Given the description of an element on the screen output the (x, y) to click on. 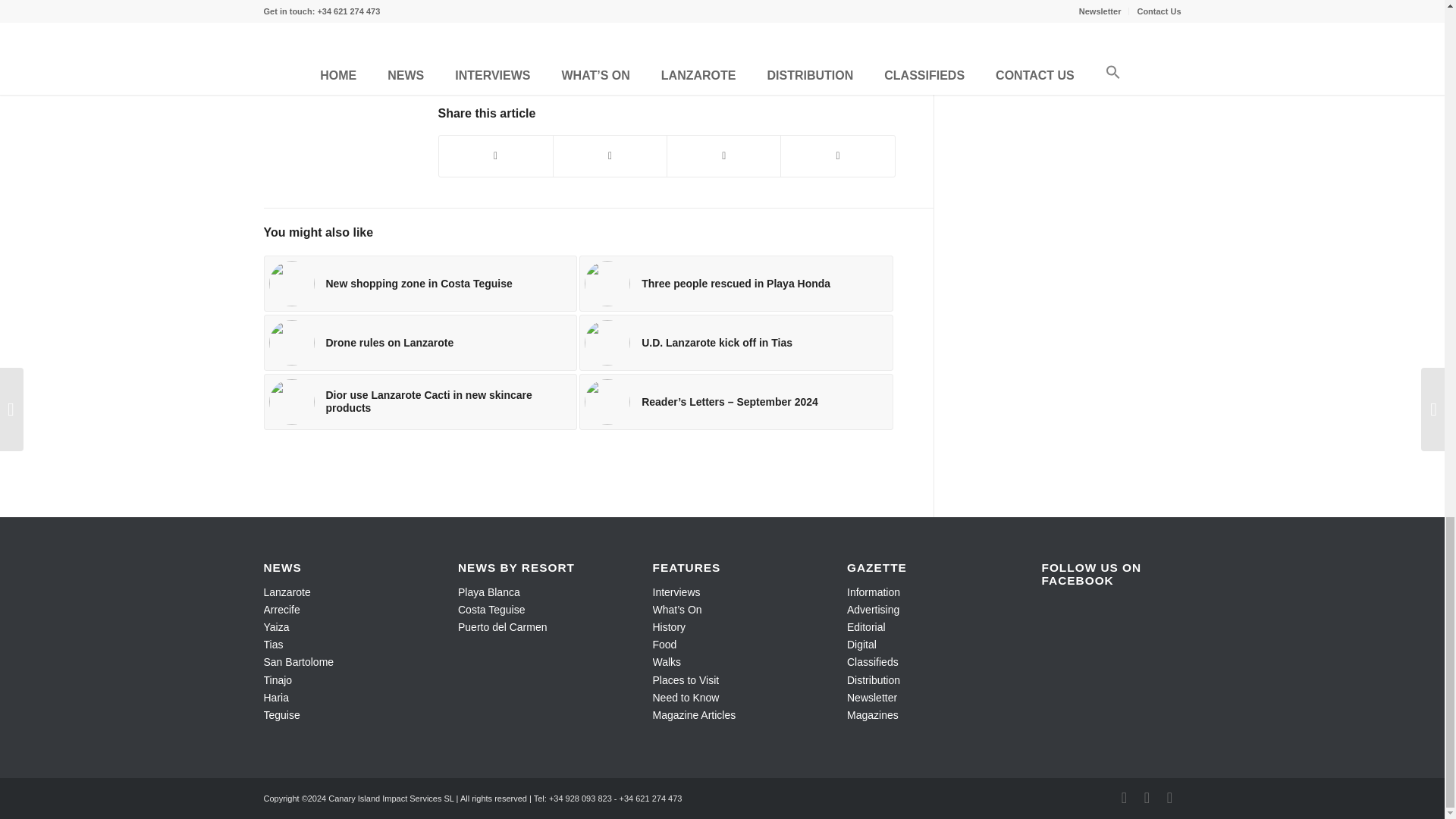
Three people rescued in Playa Honda (736, 283)
Three people rescued in Playa Honda (736, 283)
New shopping zone in Costa Teguise (420, 283)
three-people-rescued-main (607, 283)
NEWS (482, 74)
new-shopping-zone-main (290, 283)
New shopping zone in Costa Teguise (420, 283)
Drone rules on Lanzarote (420, 342)
gazette-life-news-banner-top (666, 20)
